Given the description of an element on the screen output the (x, y) to click on. 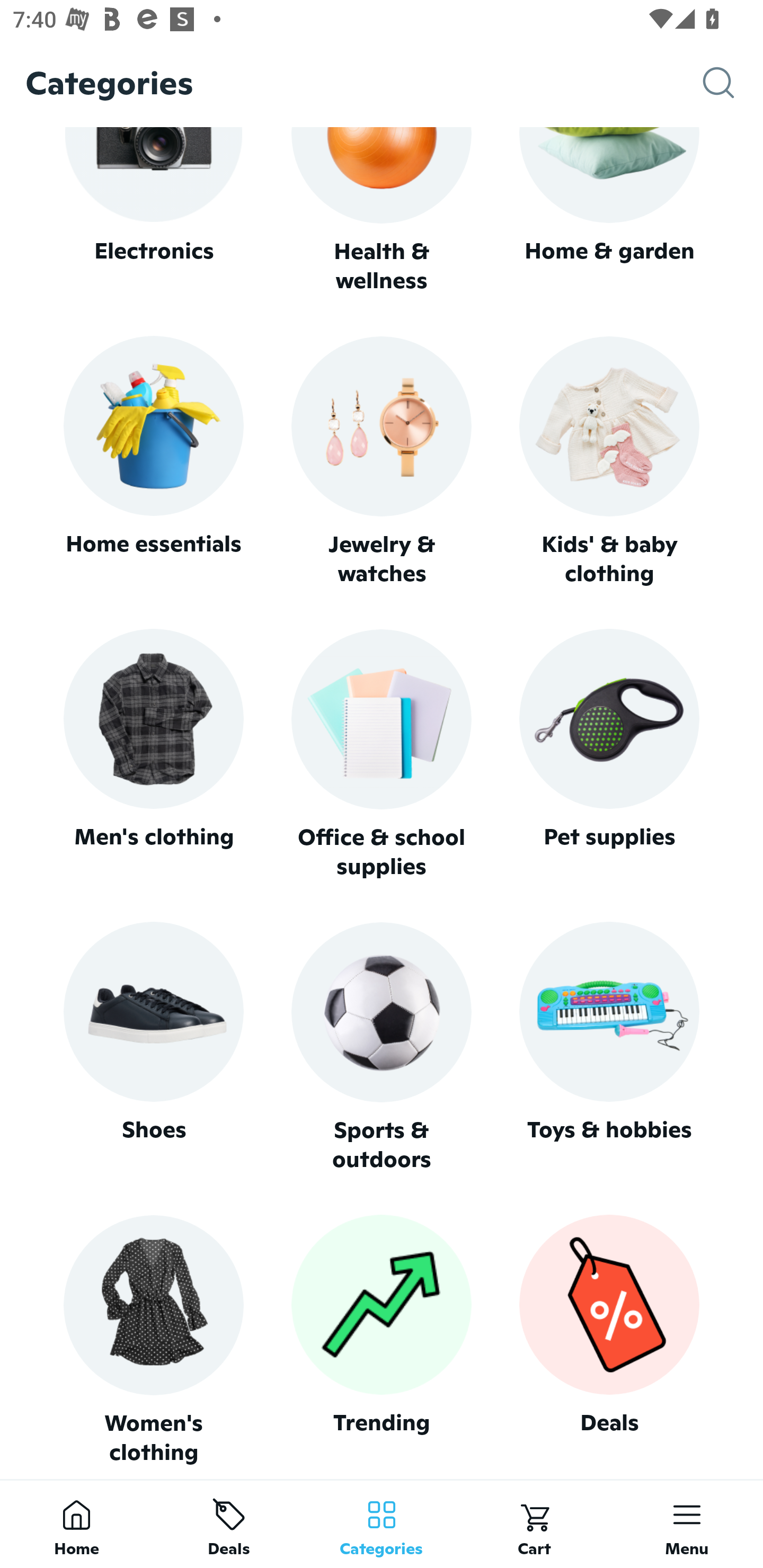
Search (732, 82)
Electronics (153, 210)
Health & wellness (381, 210)
Home & garden (609, 210)
Home essentials (153, 461)
Jewelry & watches (381, 462)
Kids' & baby clothing (609, 462)
Men's clothing (153, 753)
Pet supplies (609, 753)
Office & school supplies (381, 753)
Shoes (153, 1046)
Toys & hobbies (609, 1046)
Sports & outdoors (381, 1046)
Trending (381, 1340)
Deals (609, 1340)
Women's clothing (153, 1340)
Home (76, 1523)
Deals (228, 1523)
Categories (381, 1523)
Cart (533, 1523)
Menu (686, 1523)
